Given the description of an element on the screen output the (x, y) to click on. 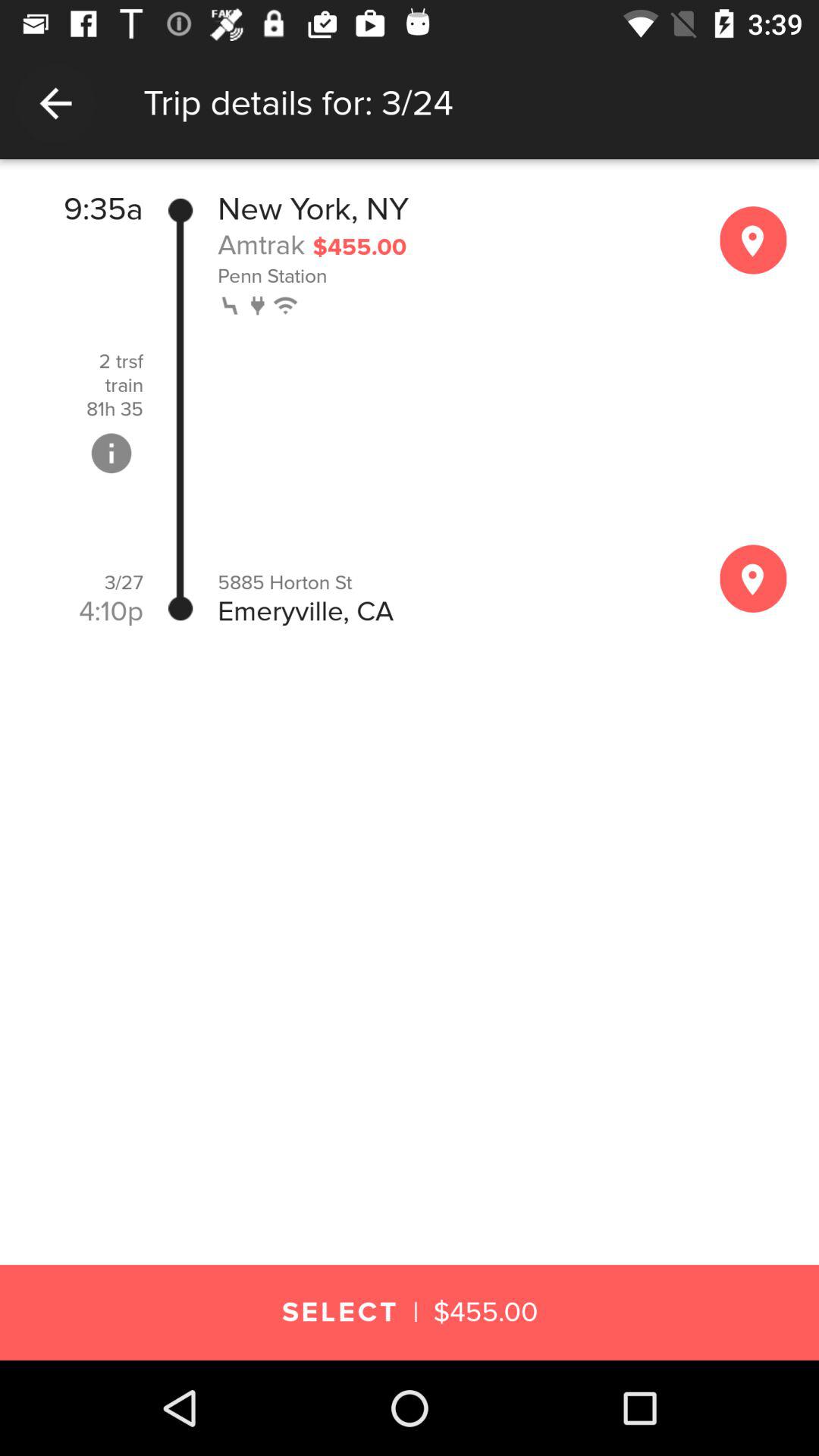
flip to train icon (124, 385)
